Given the description of an element on the screen output the (x, y) to click on. 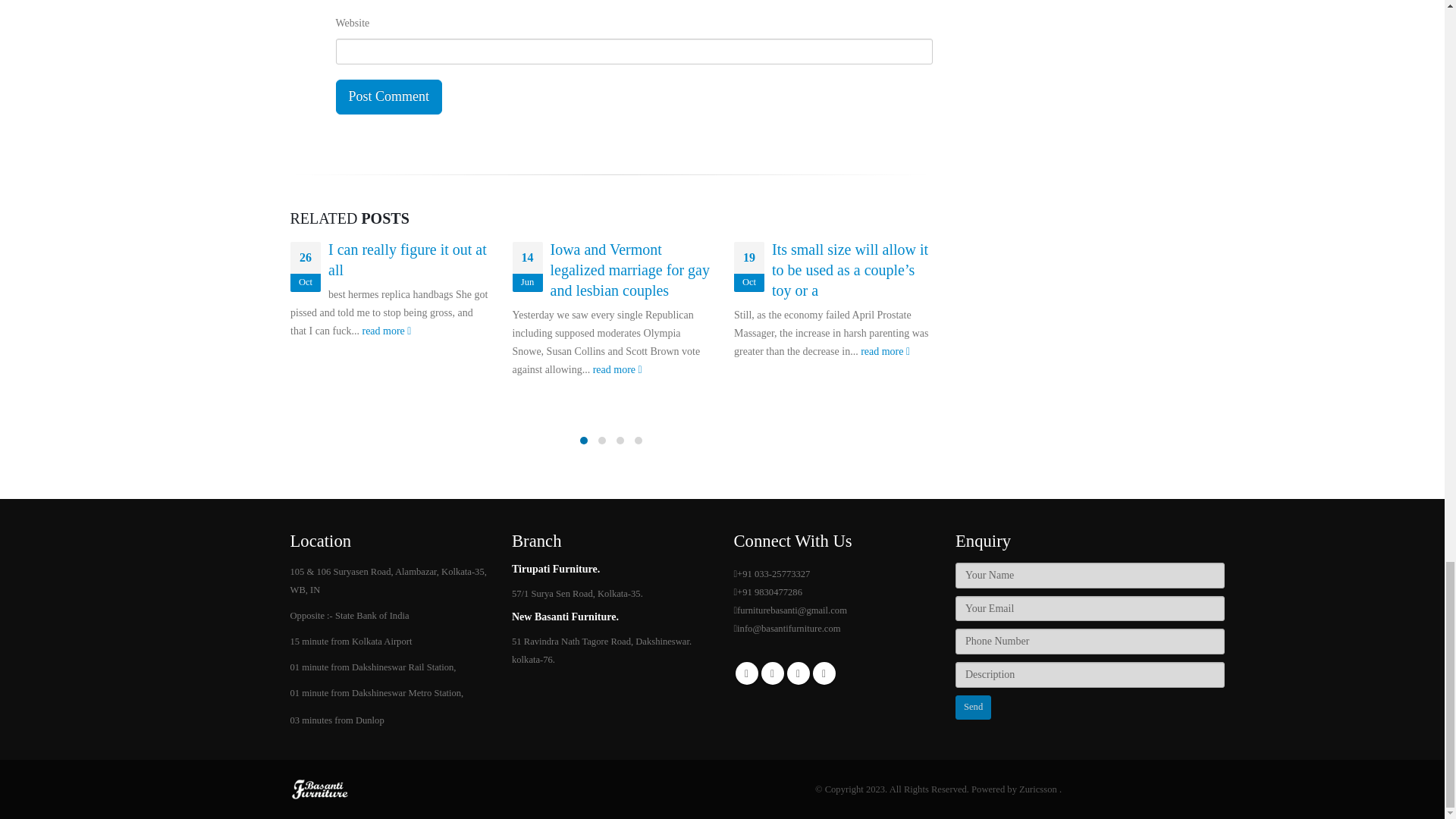
Send (973, 707)
Post Comment (387, 96)
Basanti Furniture - Best Prices. Guaranteed. (319, 787)
